Given the description of an element on the screen output the (x, y) to click on. 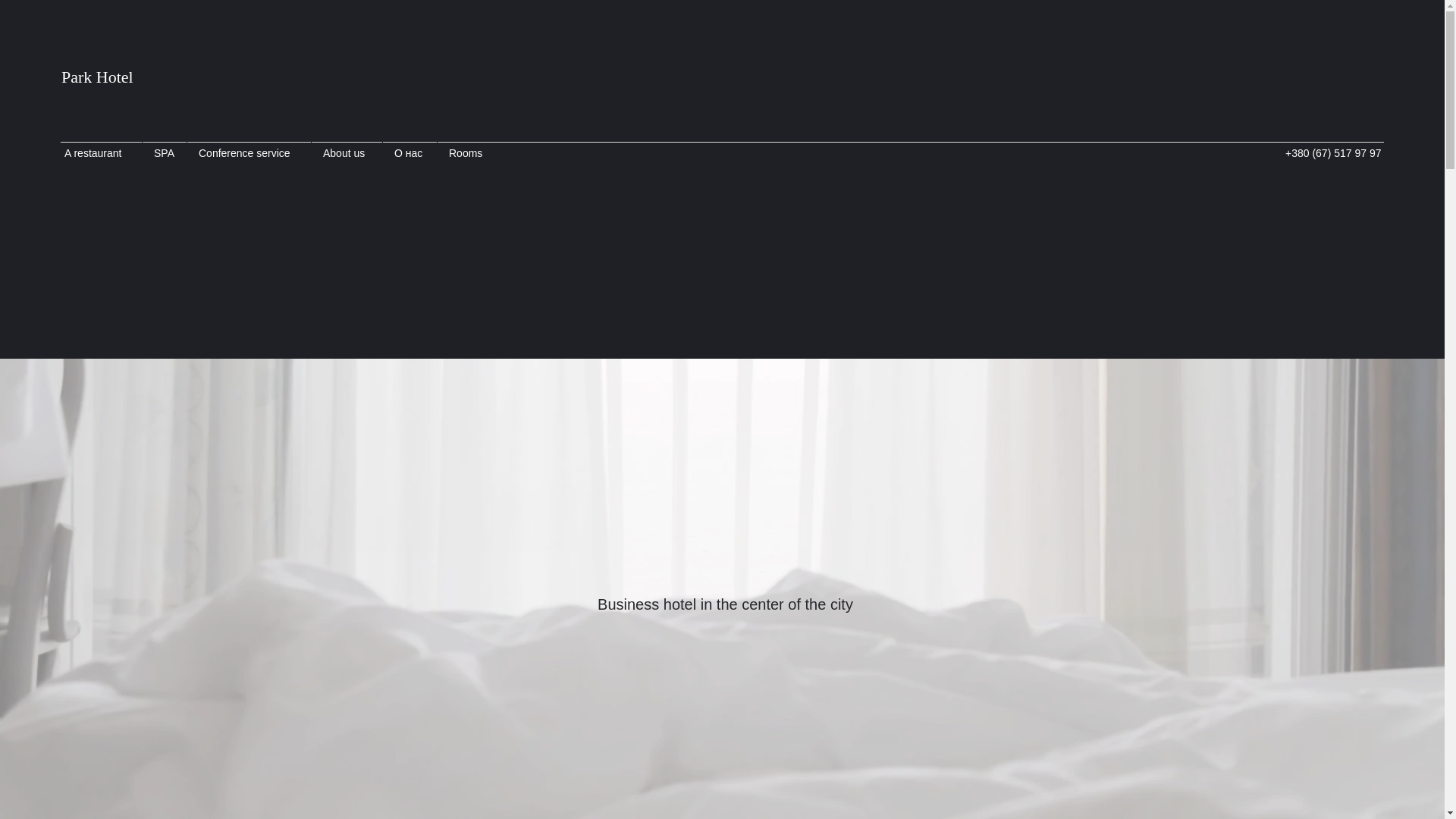
Rooms (467, 152)
Conference service (249, 152)
About us (346, 152)
SPA (164, 152)
A restaurant (96, 152)
